Given the description of an element on the screen output the (x, y) to click on. 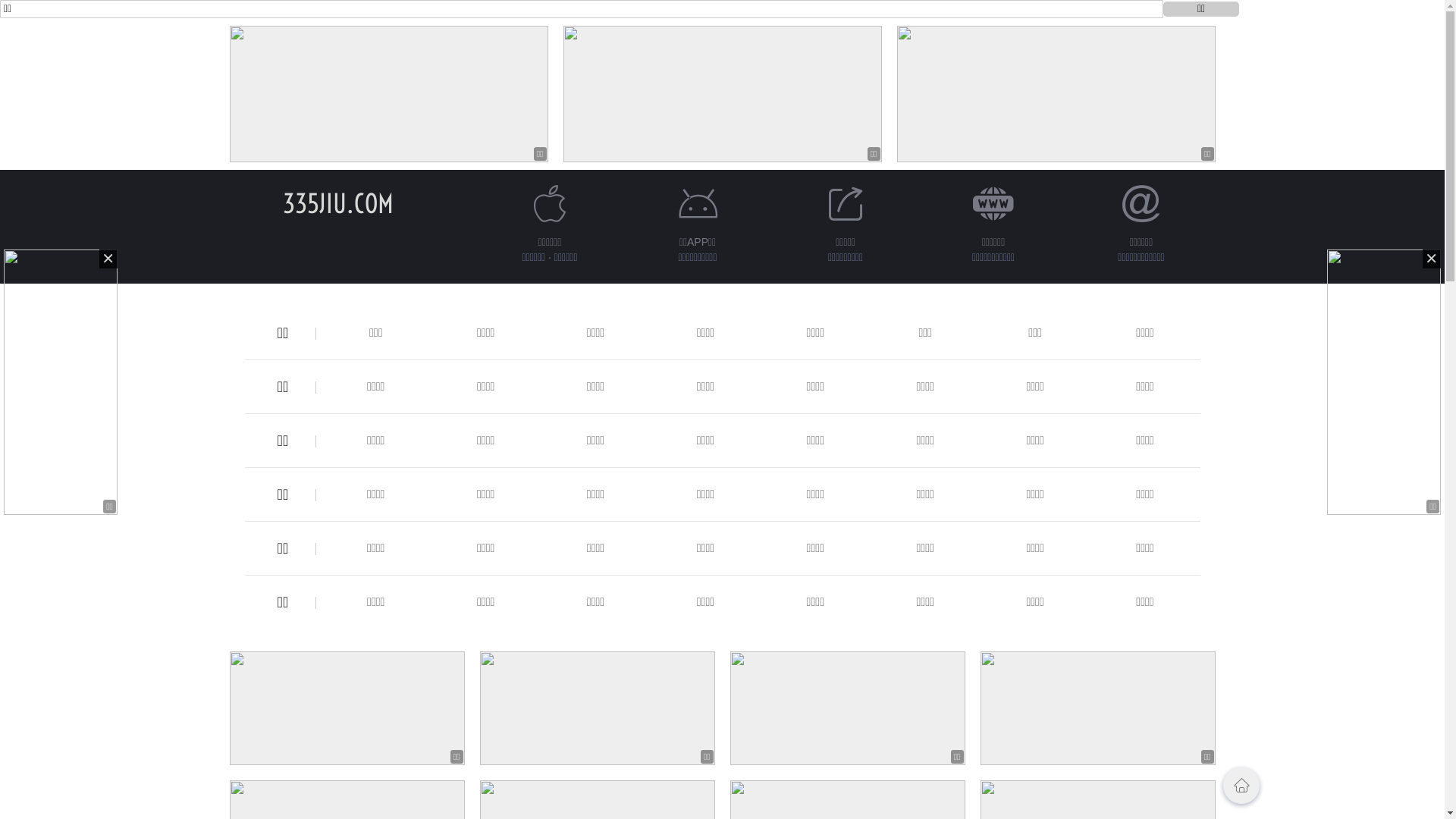
335JIU.COM Element type: text (337, 203)
